Given the description of an element on the screen output the (x, y) to click on. 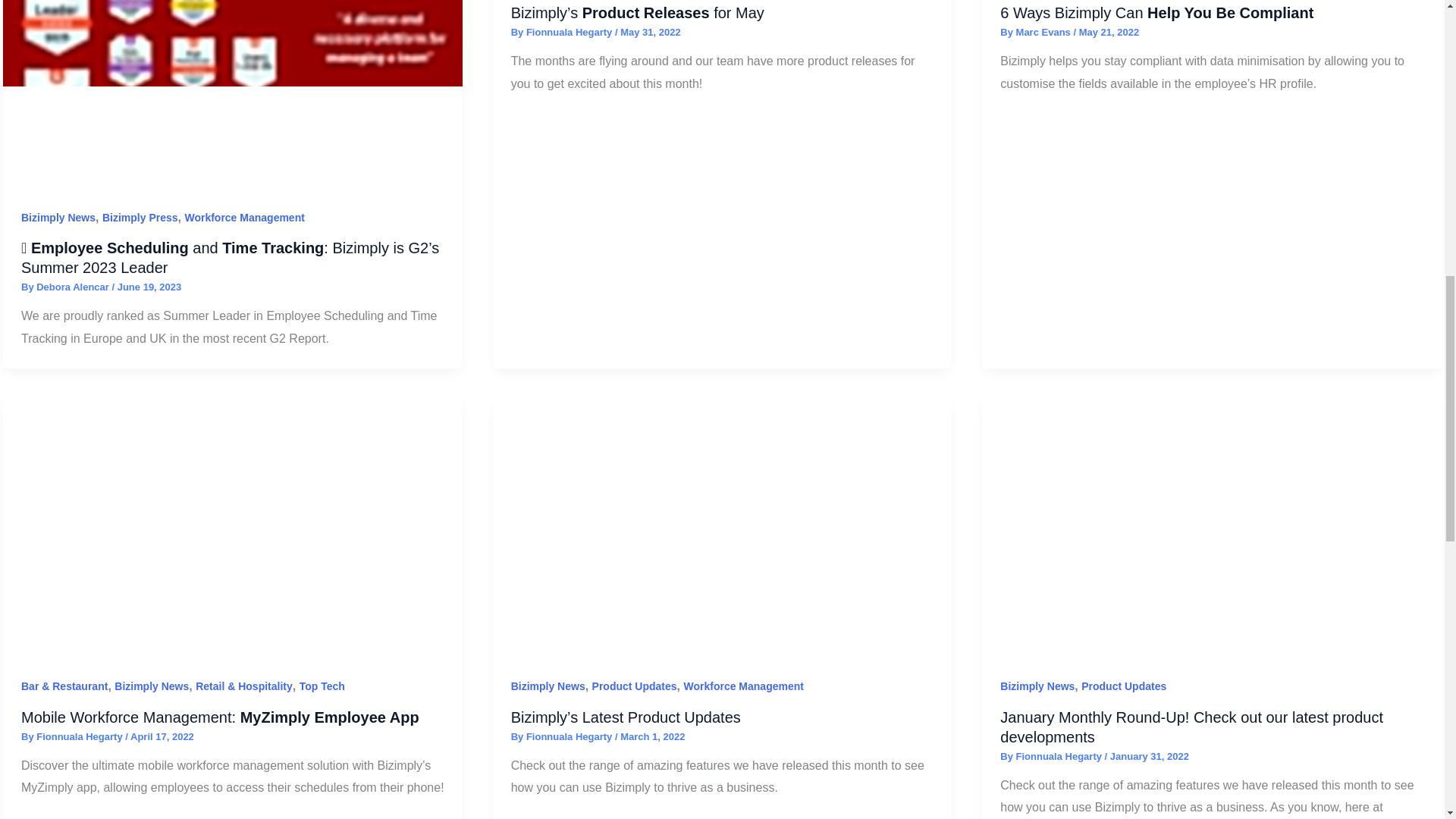
View all posts by Debora Alencar (74, 286)
View all posts by Fionnuala Hegarty (80, 736)
View all posts by Marc Evans (1045, 31)
View all posts by Fionnuala Hegarty (569, 736)
View all posts by Fionnuala Hegarty (1060, 756)
View all posts by Fionnuala Hegarty (569, 31)
